Given the description of an element on the screen output the (x, y) to click on. 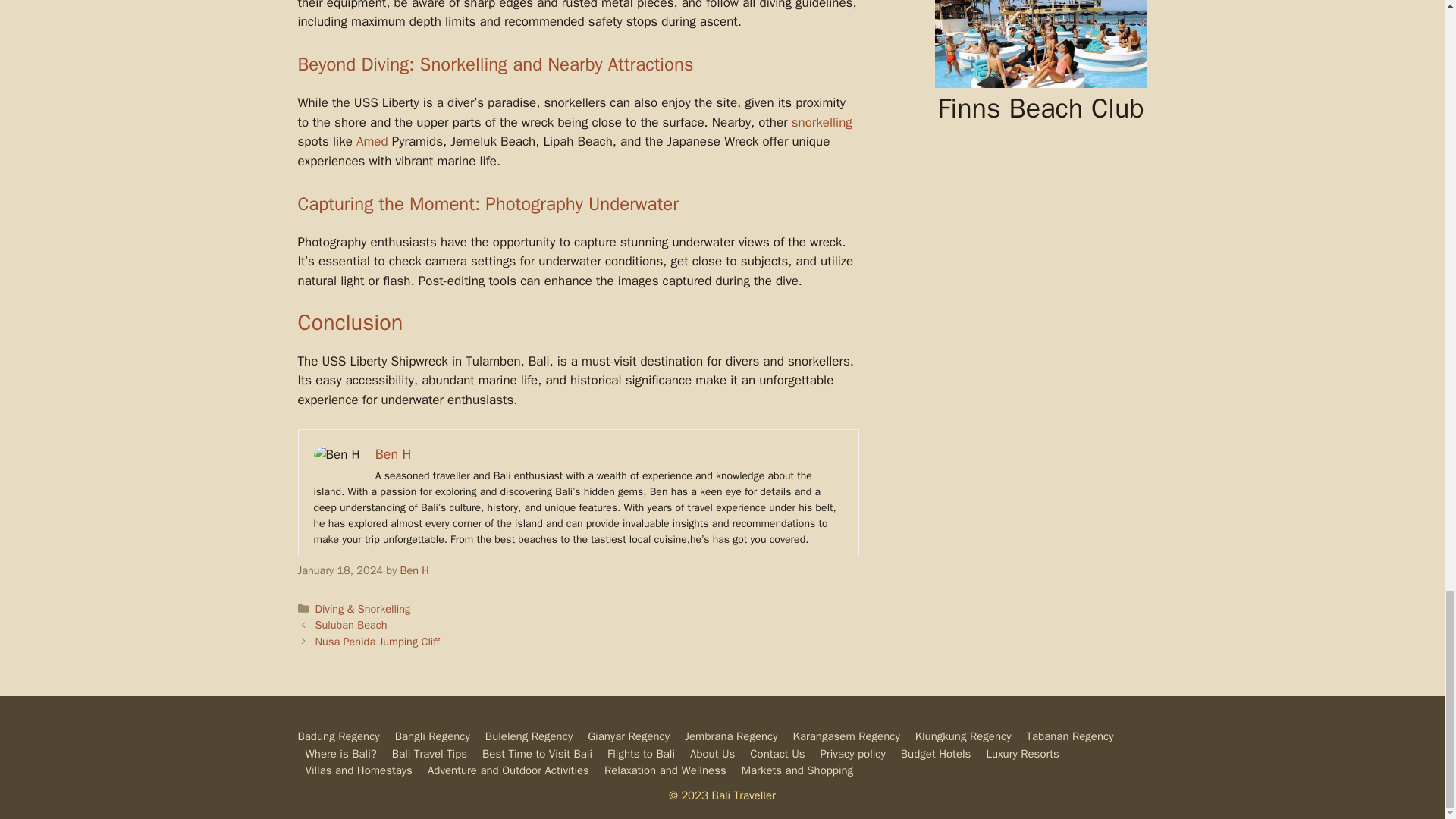
View all posts by Ben H (414, 570)
